Given the description of an element on the screen output the (x, y) to click on. 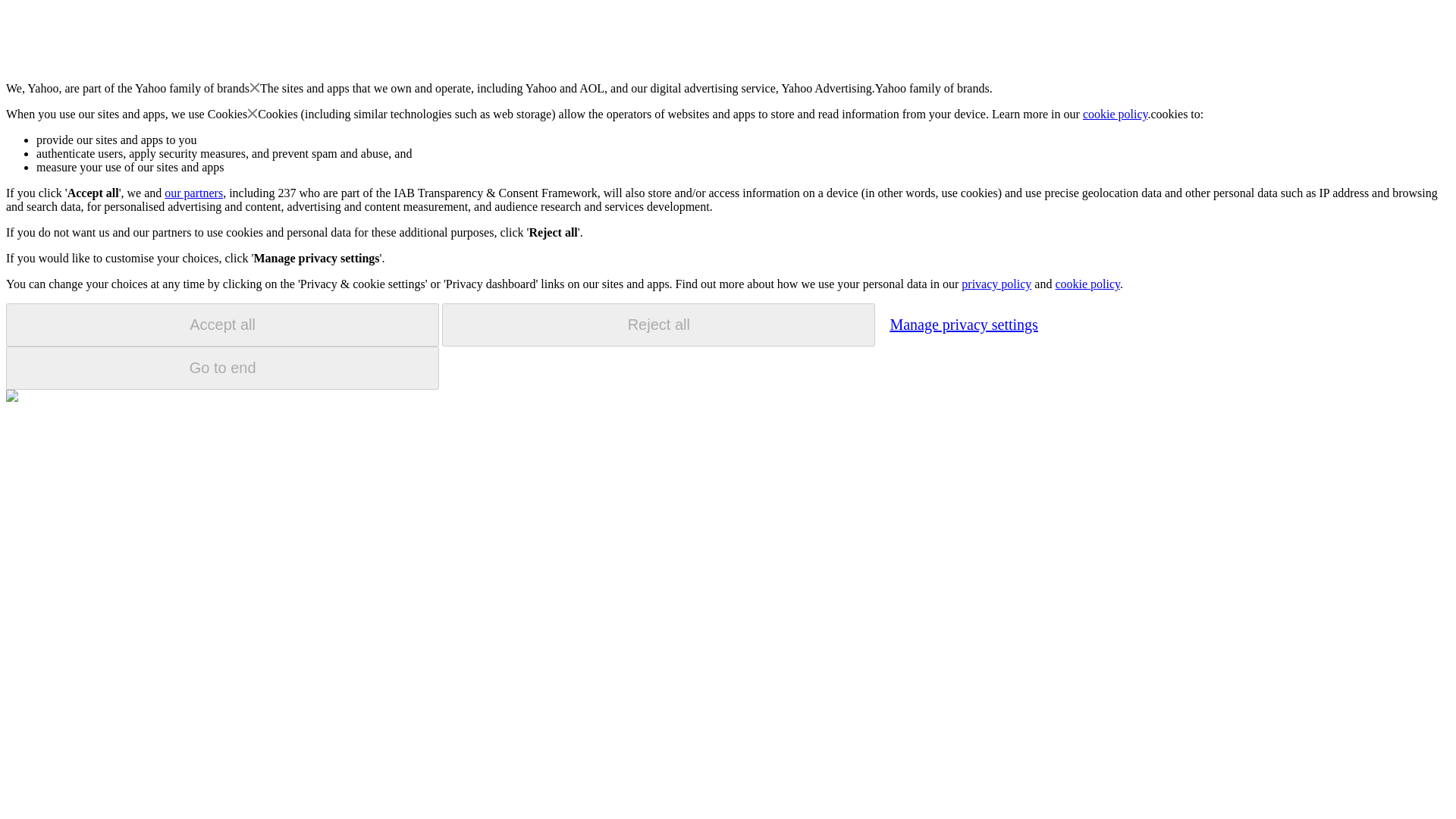
cookie policy (1086, 283)
cookie policy (1115, 113)
Manage privacy settings (963, 323)
Accept all (222, 324)
Reject all (658, 324)
privacy policy (995, 283)
Go to end (222, 367)
our partners (193, 192)
